Given the description of an element on the screen output the (x, y) to click on. 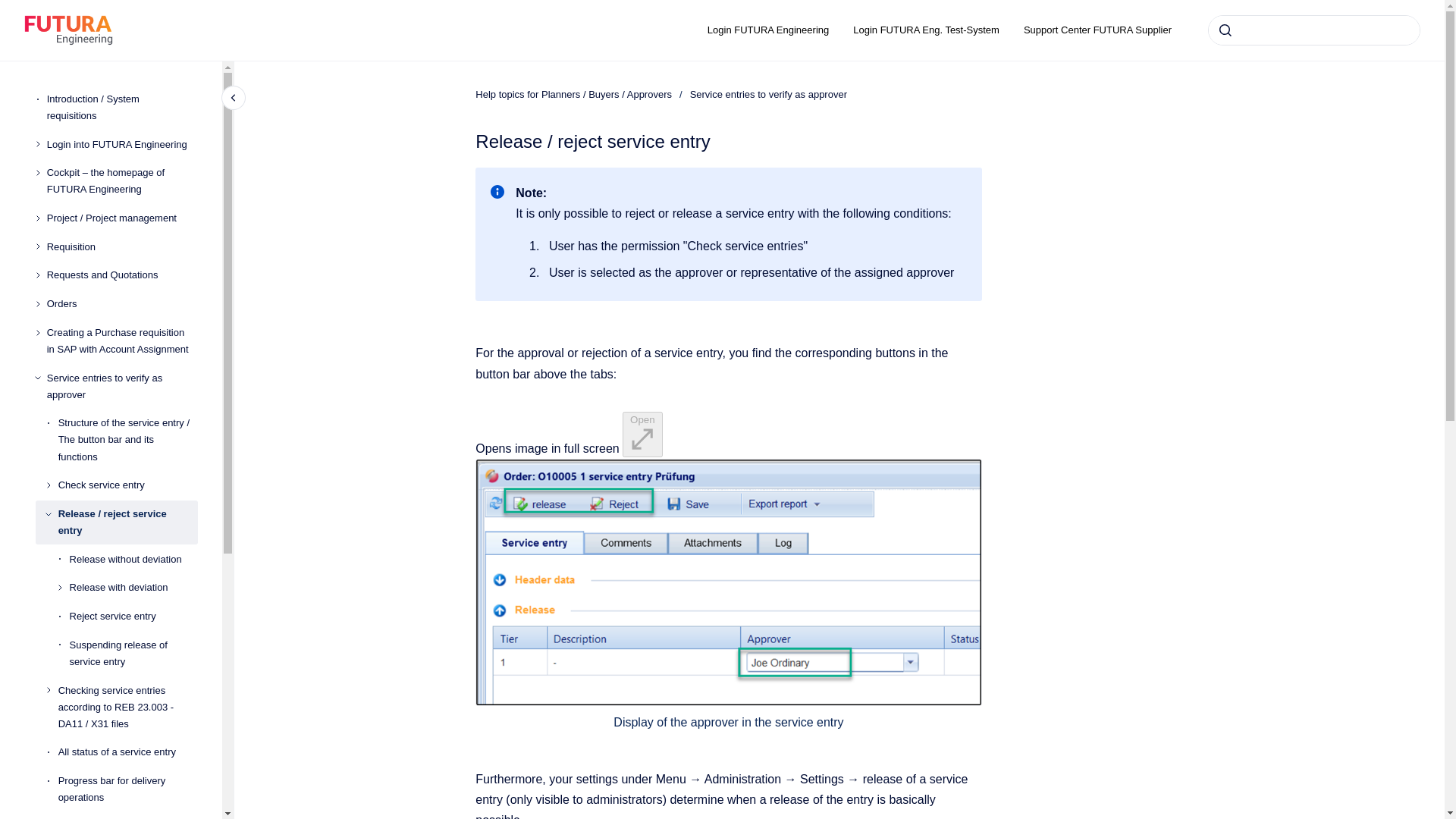
Support Center FUTURA Supplier (1097, 29)
Requisition (122, 247)
Check service entry (128, 484)
All status of a service entry (128, 752)
Reject service entry (133, 615)
Release without deviation (133, 559)
Login into FUTURA Engineering (122, 144)
Login FUTURA Eng. Test-System (926, 29)
Orders (122, 303)
